Given the description of an element on the screen output the (x, y) to click on. 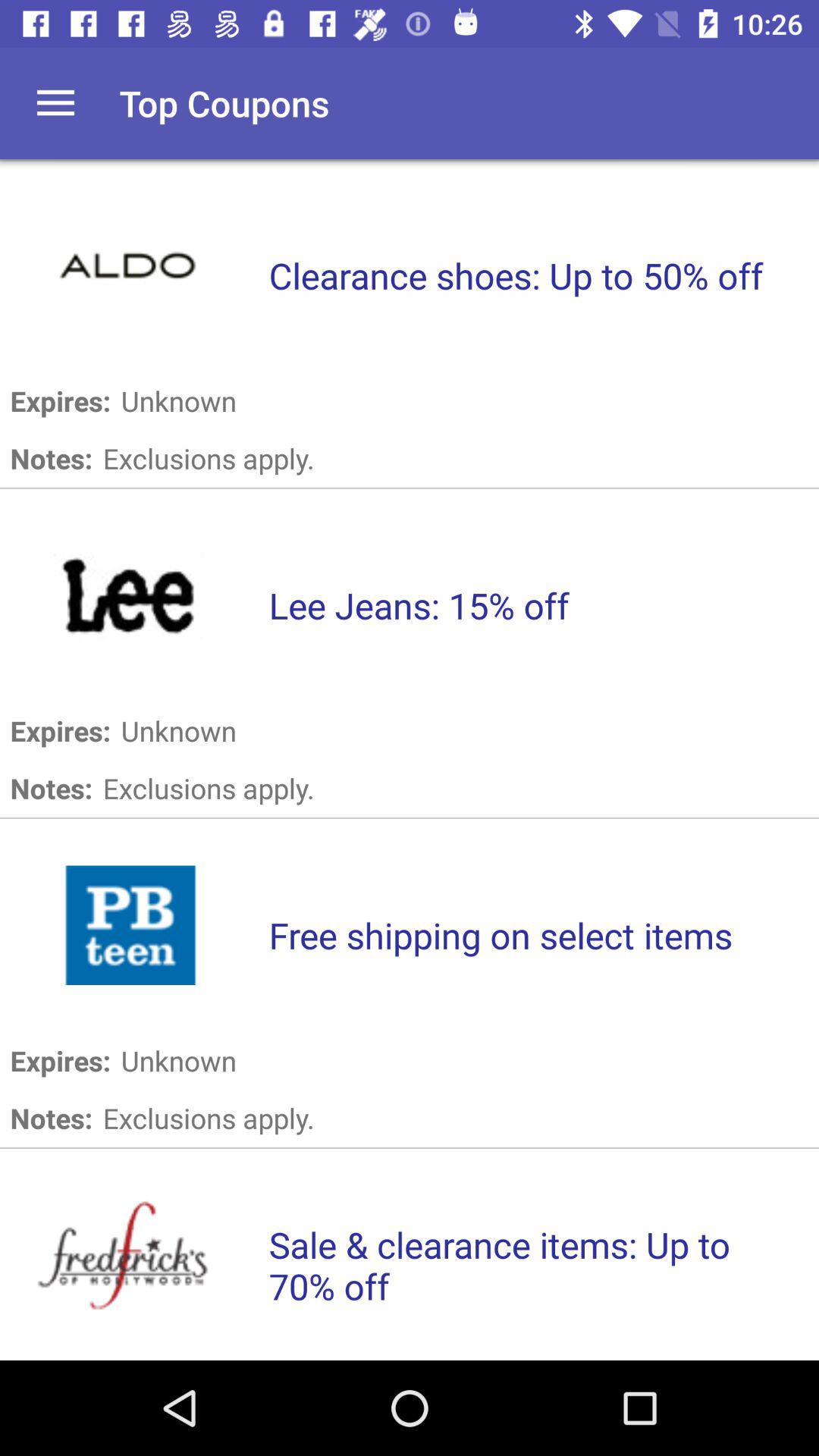
button to open up main menu (55, 103)
